Given the description of an element on the screen output the (x, y) to click on. 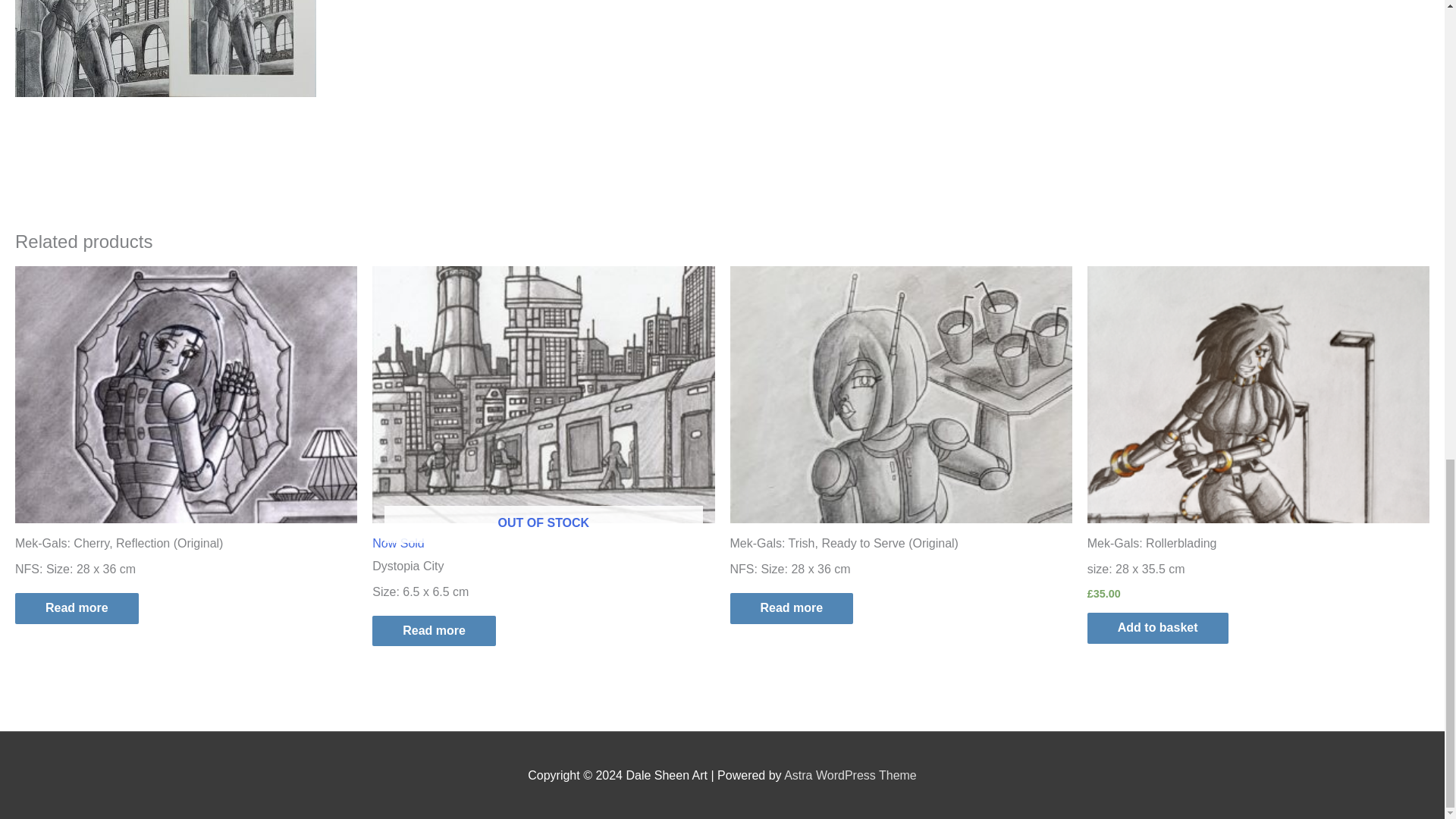
Read more (543, 410)
Read more (76, 608)
Dystopia City (791, 608)
Read more (543, 569)
